Given the description of an element on the screen output the (x, y) to click on. 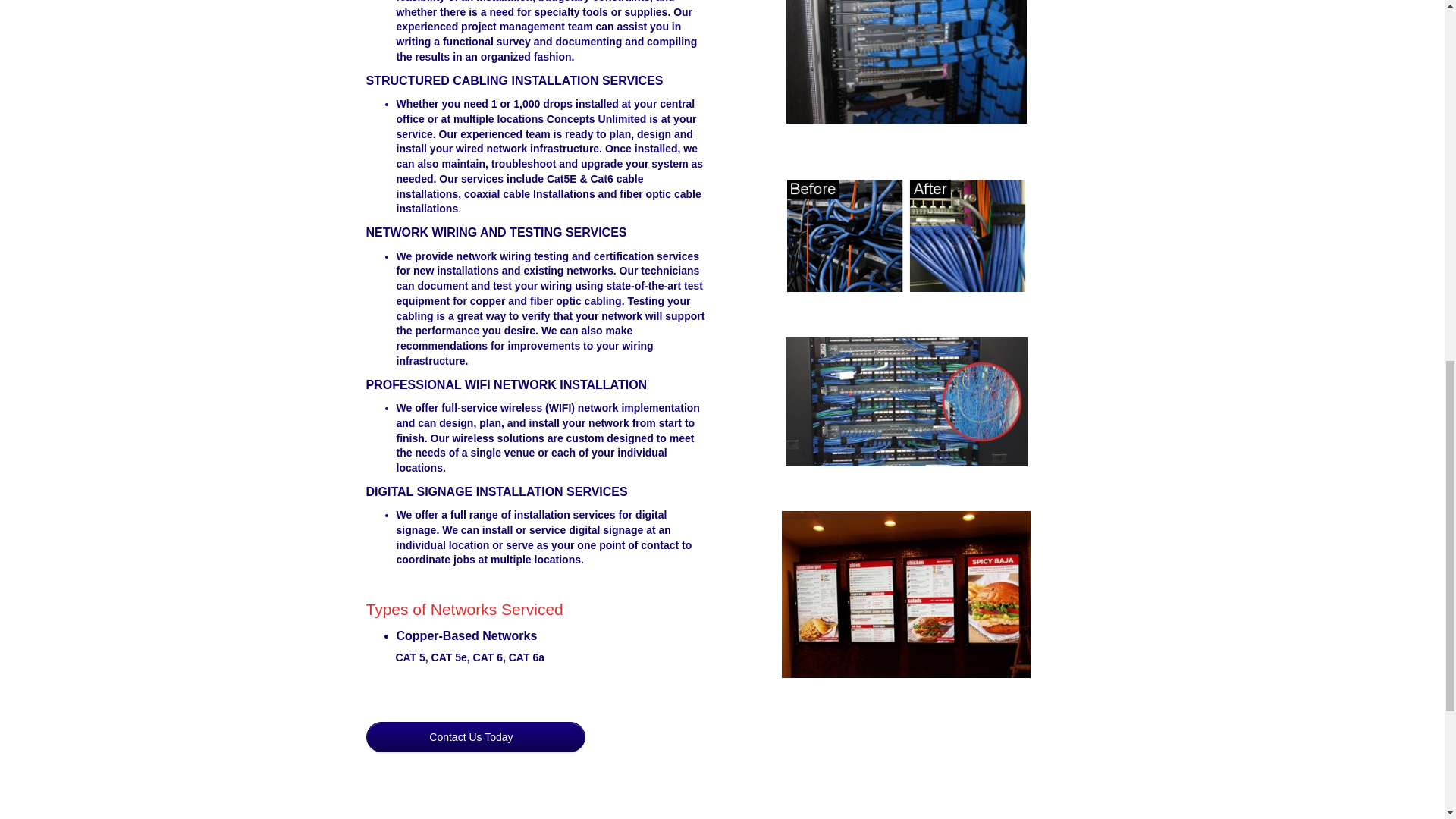
           Contact Us Today               (475, 736)
